Given the description of an element on the screen output the (x, y) to click on. 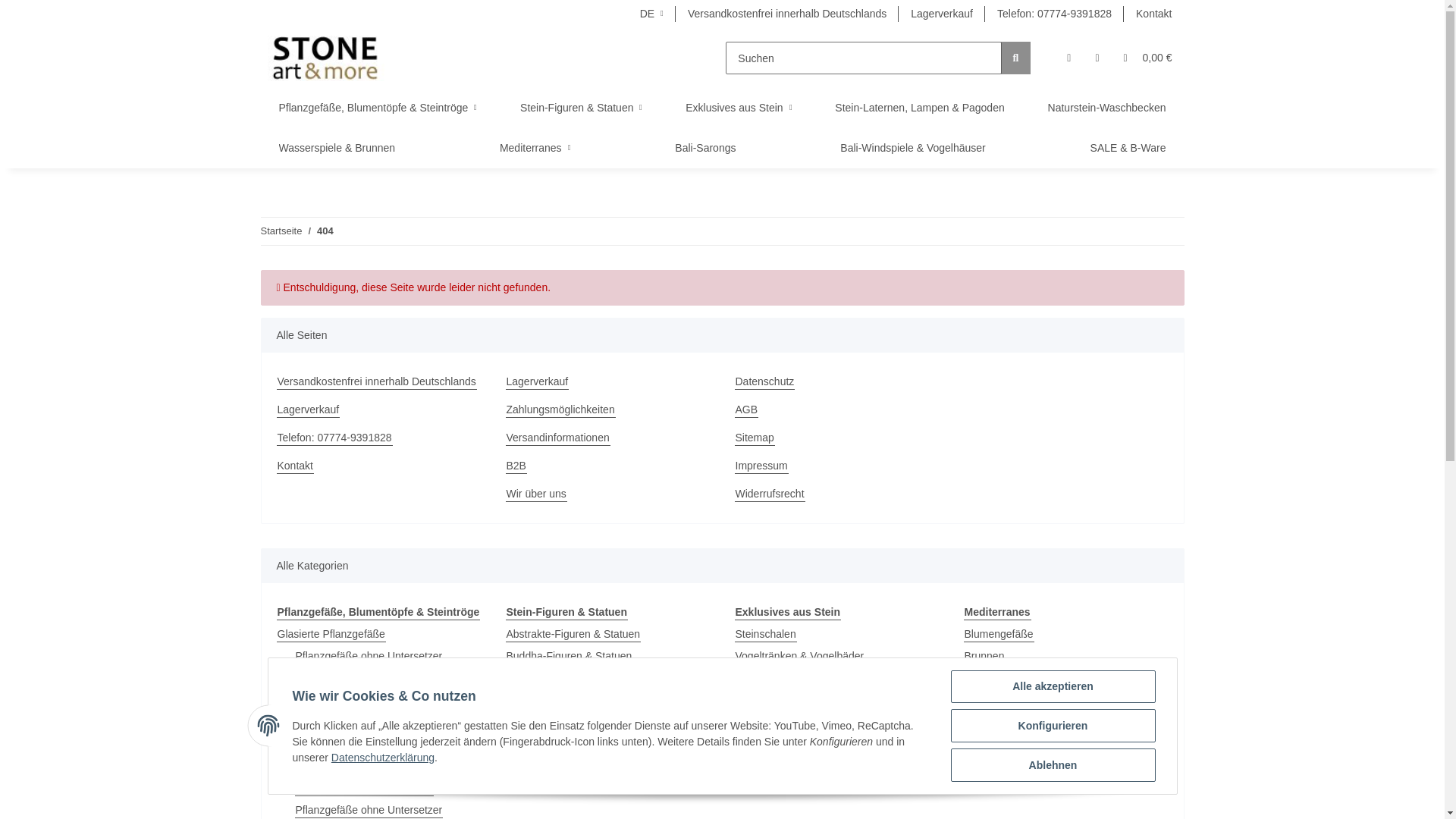
Kontakt (378, 465)
Bali-Sarongs (705, 147)
DE (651, 13)
Lagerverkauf (378, 409)
Exklusives aus Stein (737, 107)
Kontaktformular (1153, 13)
Naturstein-Waschbecken (1107, 107)
Widerrufsrecht (836, 494)
Telefon: 07774-9391828 (378, 437)
Impressum (836, 465)
Naturstein-Waschbecken (1107, 107)
Lagerverkauf (941, 13)
Versandkostenfrei innerhalb Deutschlands (378, 381)
Sitemap (836, 437)
Exklusives aus Stein (737, 107)
